Given the description of an element on the screen output the (x, y) to click on. 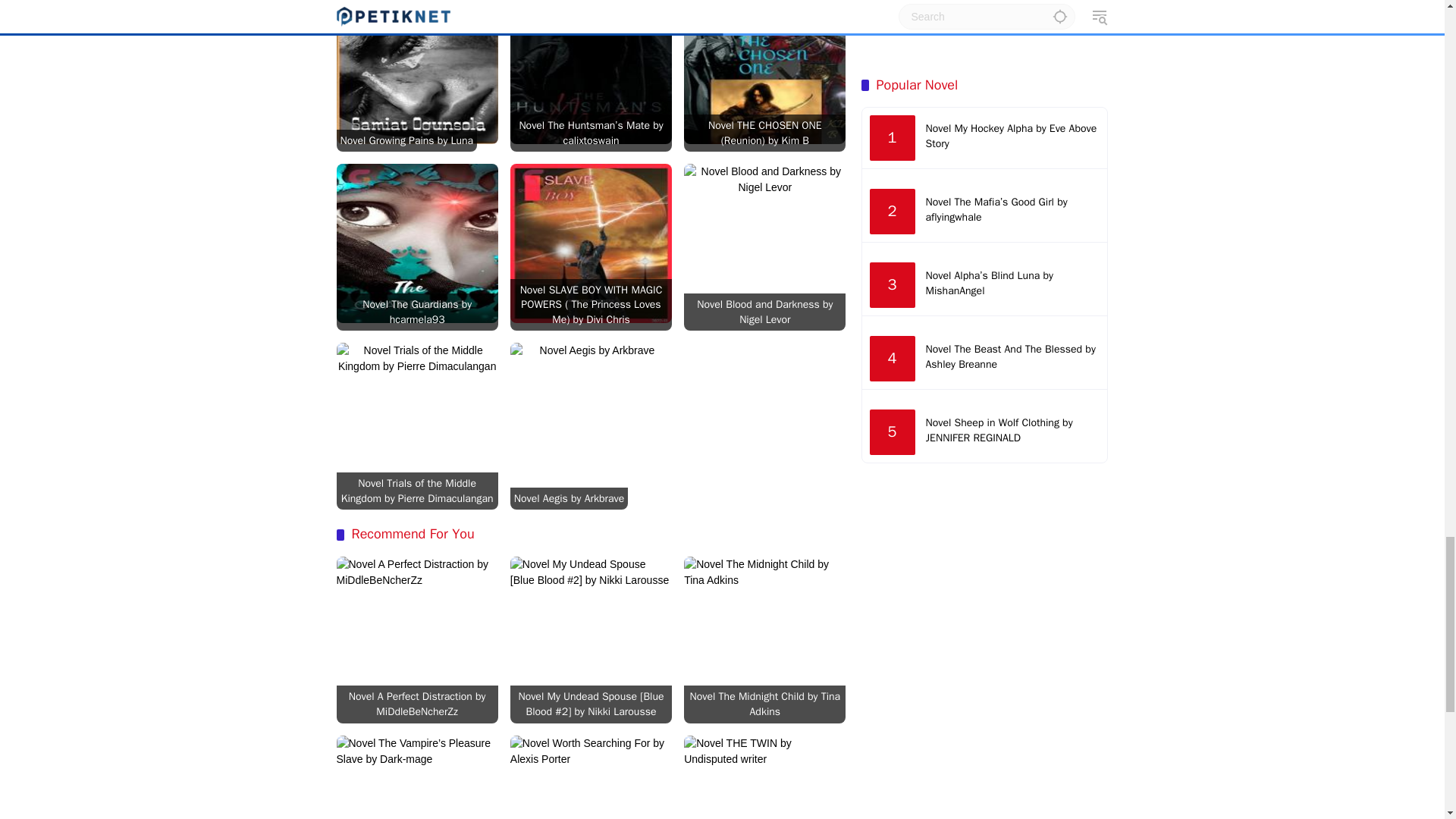
Novel Growing Pains by Luna (416, 72)
Novel The Guardians by hcarmela93 (416, 311)
Novel Growing Pains by Luna (406, 140)
Novel Trials of the Middle Kingdom by Pierre Dimaculangan (416, 490)
Novel Growing Pains by Luna (406, 140)
Novel Blood and Darkness by Nigel Levor (764, 311)
